Given the description of an element on the screen output the (x, y) to click on. 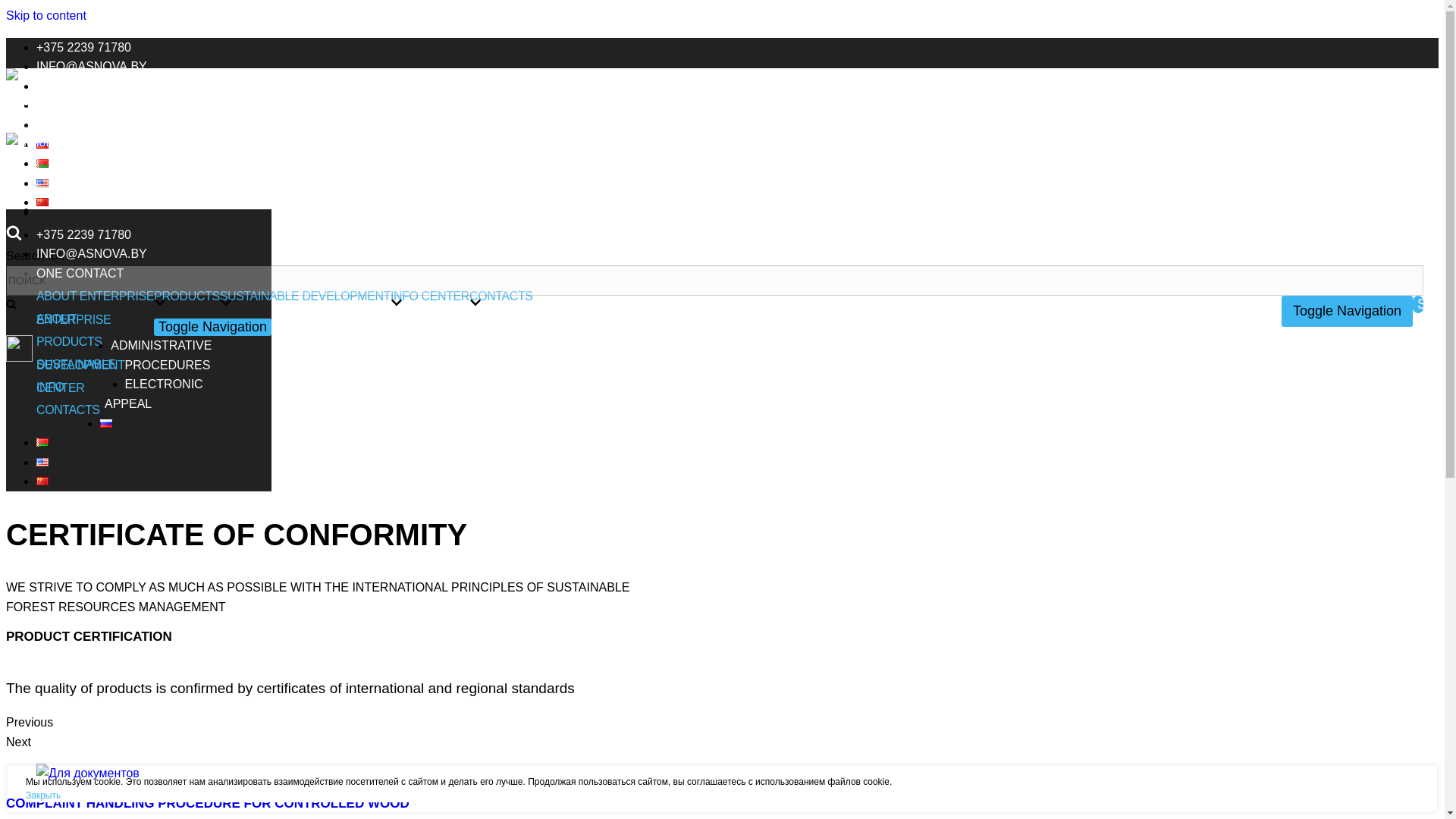
SUSTAINABLE DEVELOPMENT Element type: text (304, 306)
ELECTRONIC APPEAL Element type: text (153, 393)
Skip to content Element type: text (46, 15)
ONE CONTACT Element type: text (79, 85)
ABOUT ENTERPRISE Element type: text (94, 306)
ELECTRONIC APPEAL Element type: text (100, 124)
ADMINISTRATIVE PROCEDURES Element type: text (160, 354)
+375 2239 71780 Element type: text (83, 234)
ABOUT ENTERPRISE Element type: text (73, 329)
+375 2239 71780 Element type: text (83, 46)
SUSTAINABLE DEVELOPMENT Element type: text (80, 375)
Search Element type: text (1417, 304)
INFO CENTER Element type: text (70, 397)
PRODUCTS Element type: text (186, 306)
Toggle Navigation Element type: text (1346, 310)
ADMINISTRATIVE PROCEDURES Element type: text (130, 104)
INFO@ASNOVA.BY Element type: text (91, 65)
Toggle Navigation Element type: text (212, 326)
CONTACTS Element type: text (501, 306)
INFO CENTER Element type: text (429, 306)
PRODUCTS Element type: text (69, 352)
COMPLAINT HANDLING PROCEDURE FOR CONTROLLED WOOD Element type: text (207, 803)
CONTACTS Element type: text (68, 420)
ONE CONTACT Element type: text (79, 272)
INFO@ASNOVA.BY Element type: text (91, 253)
